Given the description of an element on the screen output the (x, y) to click on. 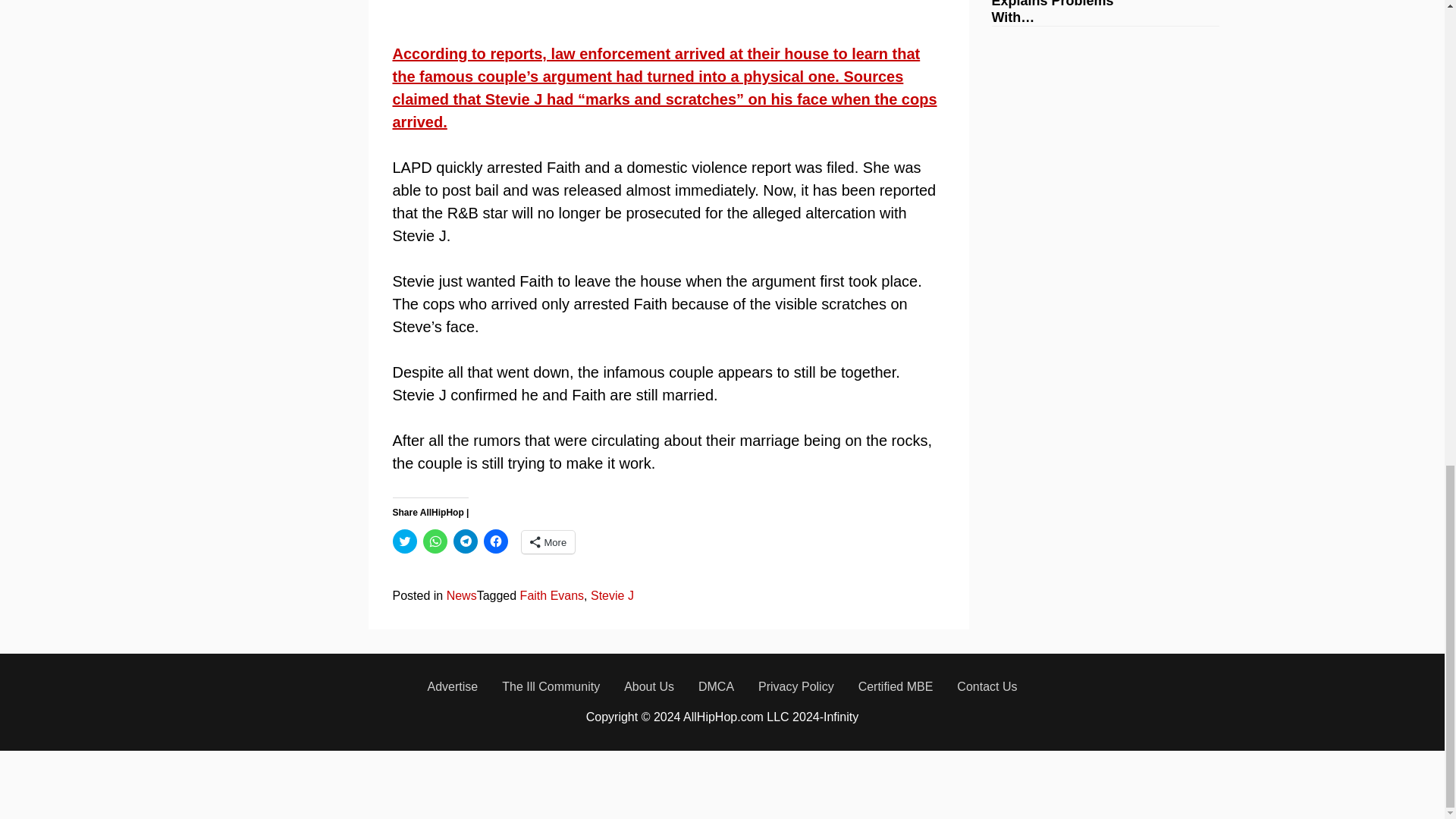
Click to share on Telegram (464, 541)
Click to share on Twitter (404, 541)
Click to share on WhatsApp (434, 541)
Click to share on Facebook (495, 541)
